Given the description of an element on the screen output the (x, y) to click on. 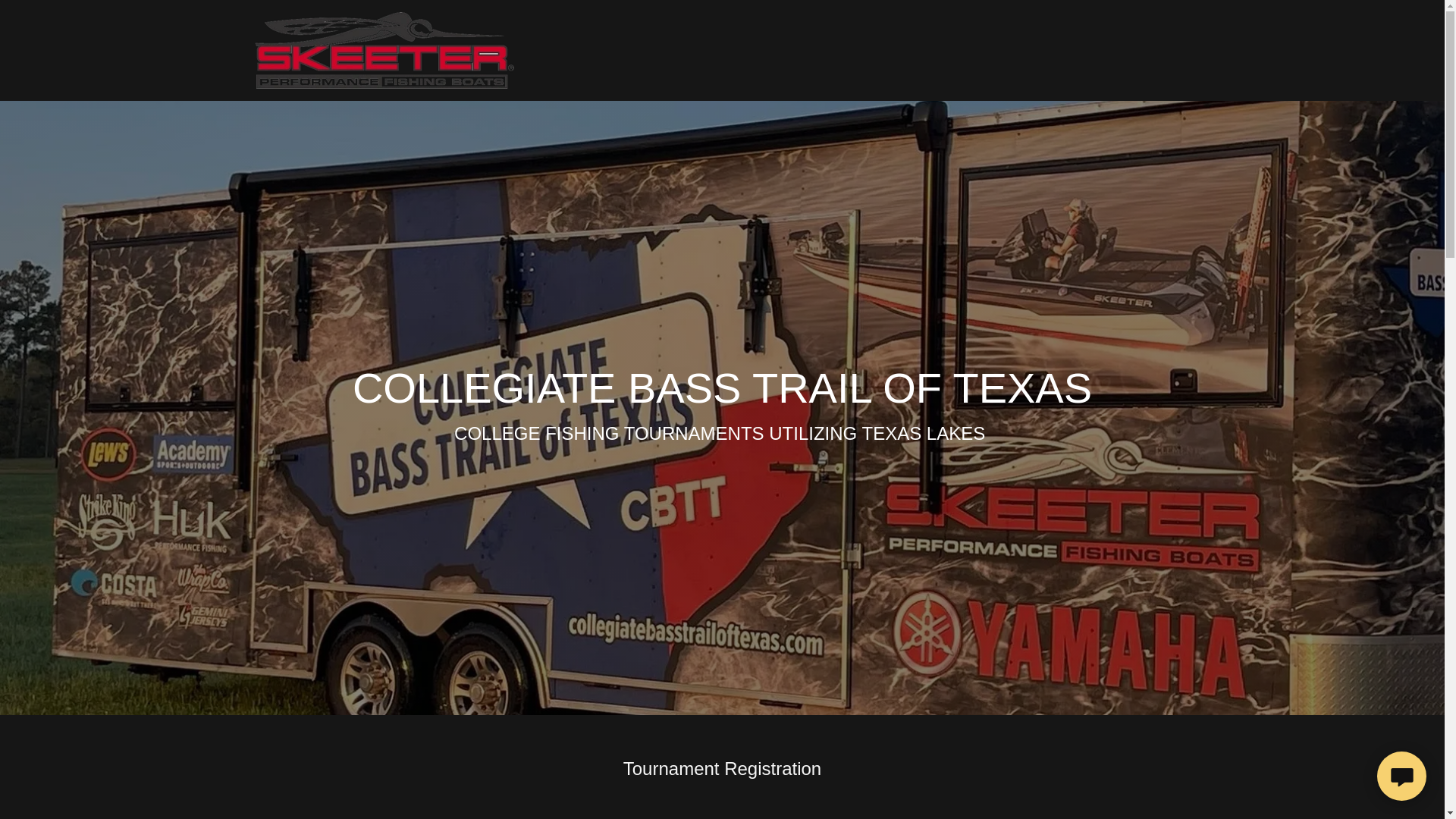
Collegiate Bass Trail of Texas (383, 48)
